Given the description of an element on the screen output the (x, y) to click on. 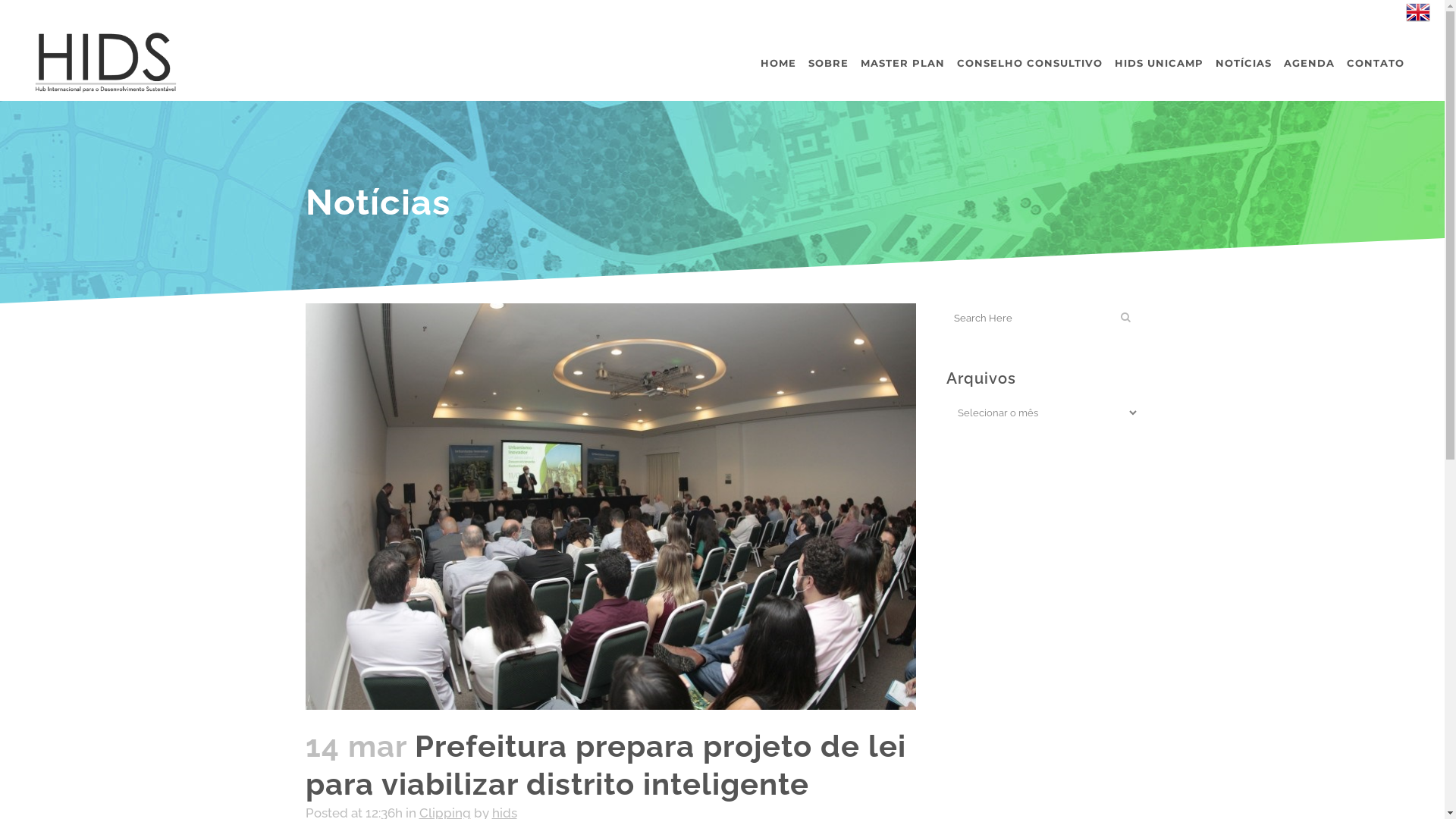
HIDS UNICAMP Element type: text (1158, 62)
AGENDA Element type: text (1308, 62)
HOME Element type: text (778, 62)
MASTER PLAN Element type: text (902, 62)
CONSELHO CONSULTIVO Element type: text (1029, 62)
SOBRE Element type: text (828, 62)
CONTATO Element type: text (1375, 62)
